Given the description of an element on the screen output the (x, y) to click on. 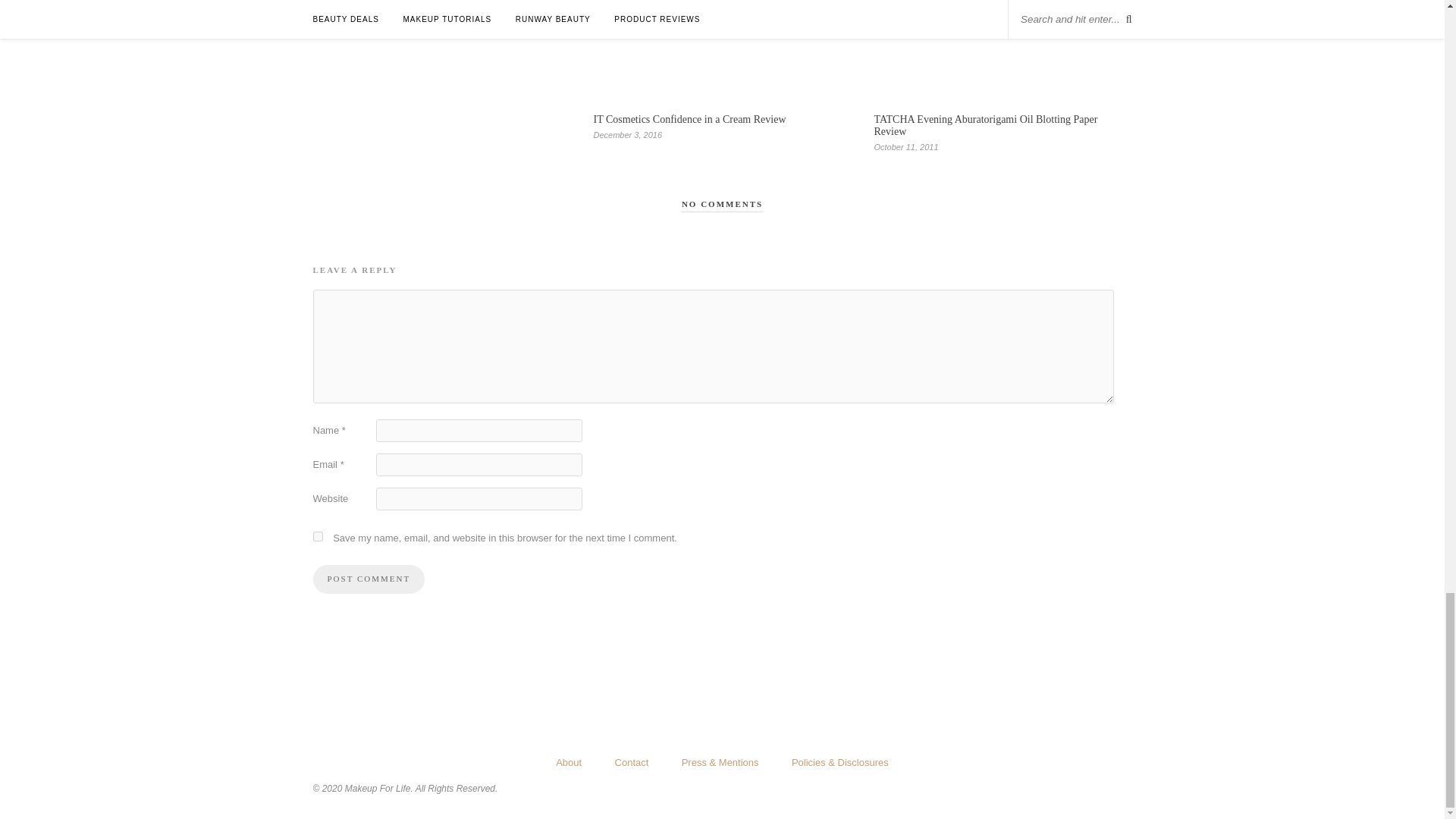
yes (317, 536)
Contact (631, 762)
IT Cosmetics Confidence in a Cream Review (689, 119)
Post Comment (369, 579)
TATCHA Evening Aburatorigami Oil Blotting Paper Review (985, 125)
Post Comment (369, 579)
About (568, 762)
